Given the description of an element on the screen output the (x, y) to click on. 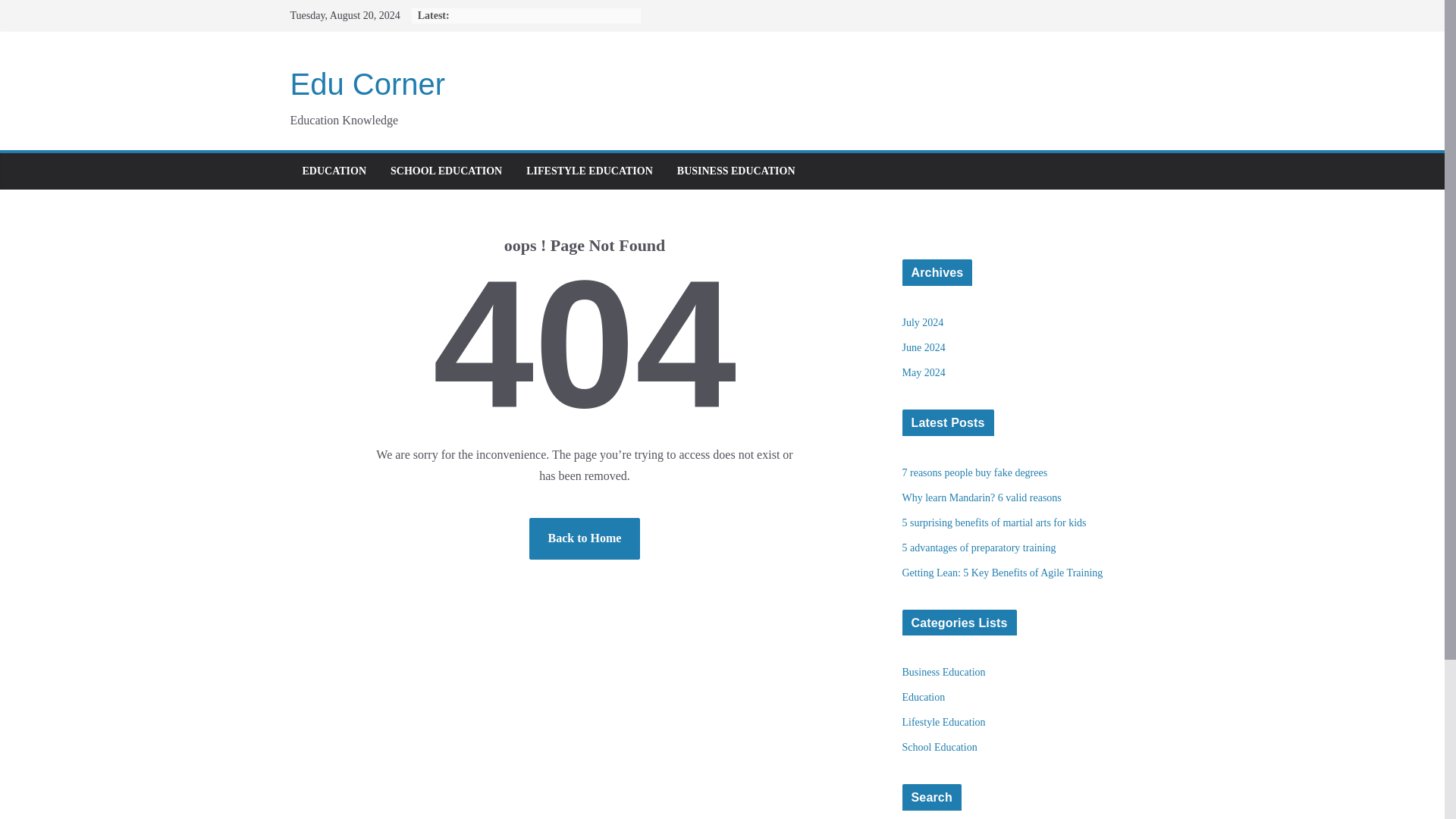
5 advantages of preparatory training (979, 547)
Why learn Mandarin? 6 valid reasons (981, 497)
Education (923, 696)
May 2024 (923, 372)
Edu Corner (367, 83)
5 surprising benefits of martial arts for kids (994, 522)
LIFESTYLE EDUCATION (588, 170)
EDUCATION (333, 170)
Lifestyle Education (943, 722)
7 reasons people buy fake degrees (975, 472)
